Given the description of an element on the screen output the (x, y) to click on. 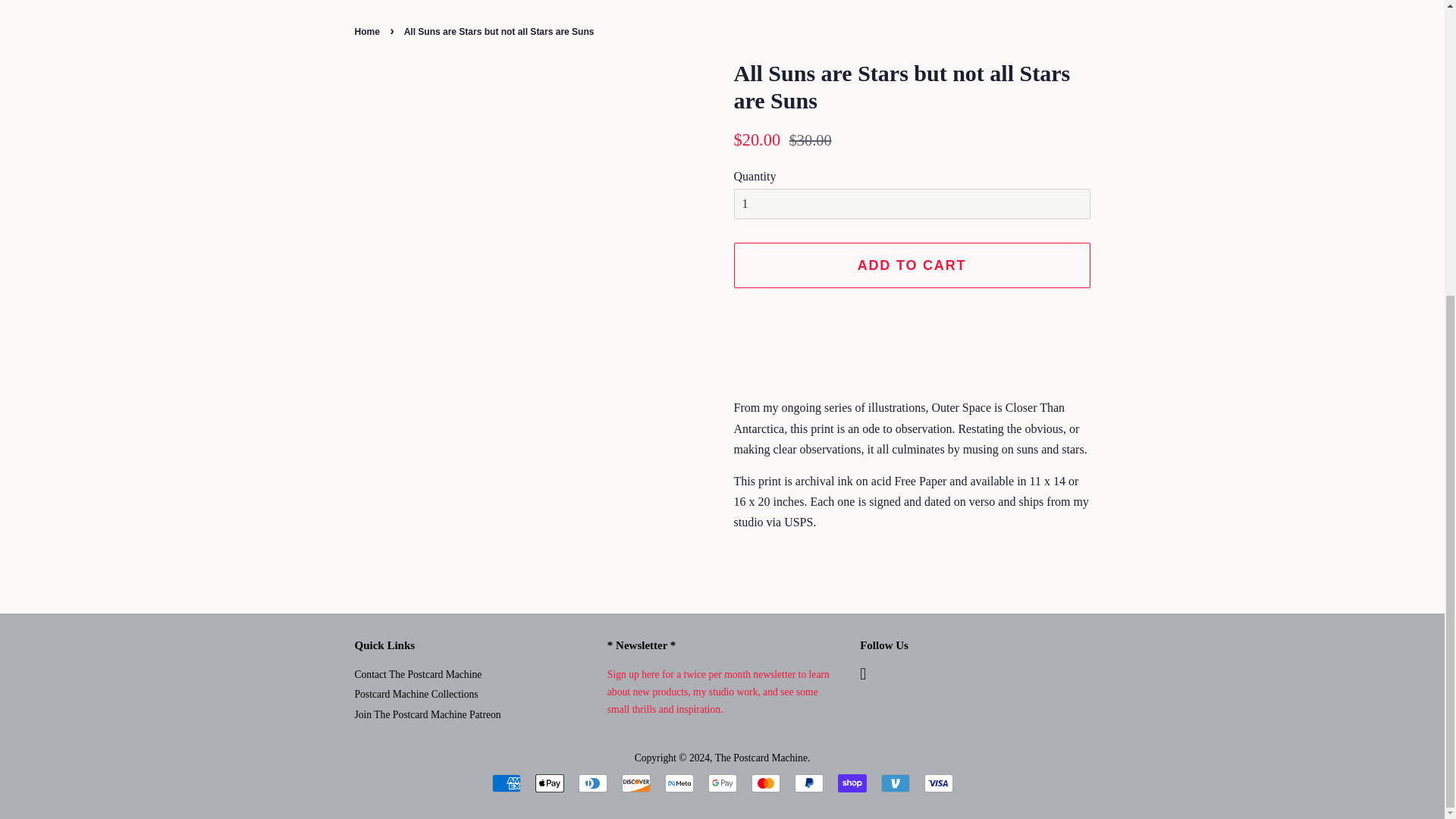
Meta Pay (678, 782)
Google Pay (721, 782)
ADD TO CART (911, 265)
Home (369, 31)
Discover (635, 782)
Venmo (895, 782)
1 (911, 204)
Mastercard (764, 782)
American Express (505, 782)
Visa (937, 782)
